Given the description of an element on the screen output the (x, y) to click on. 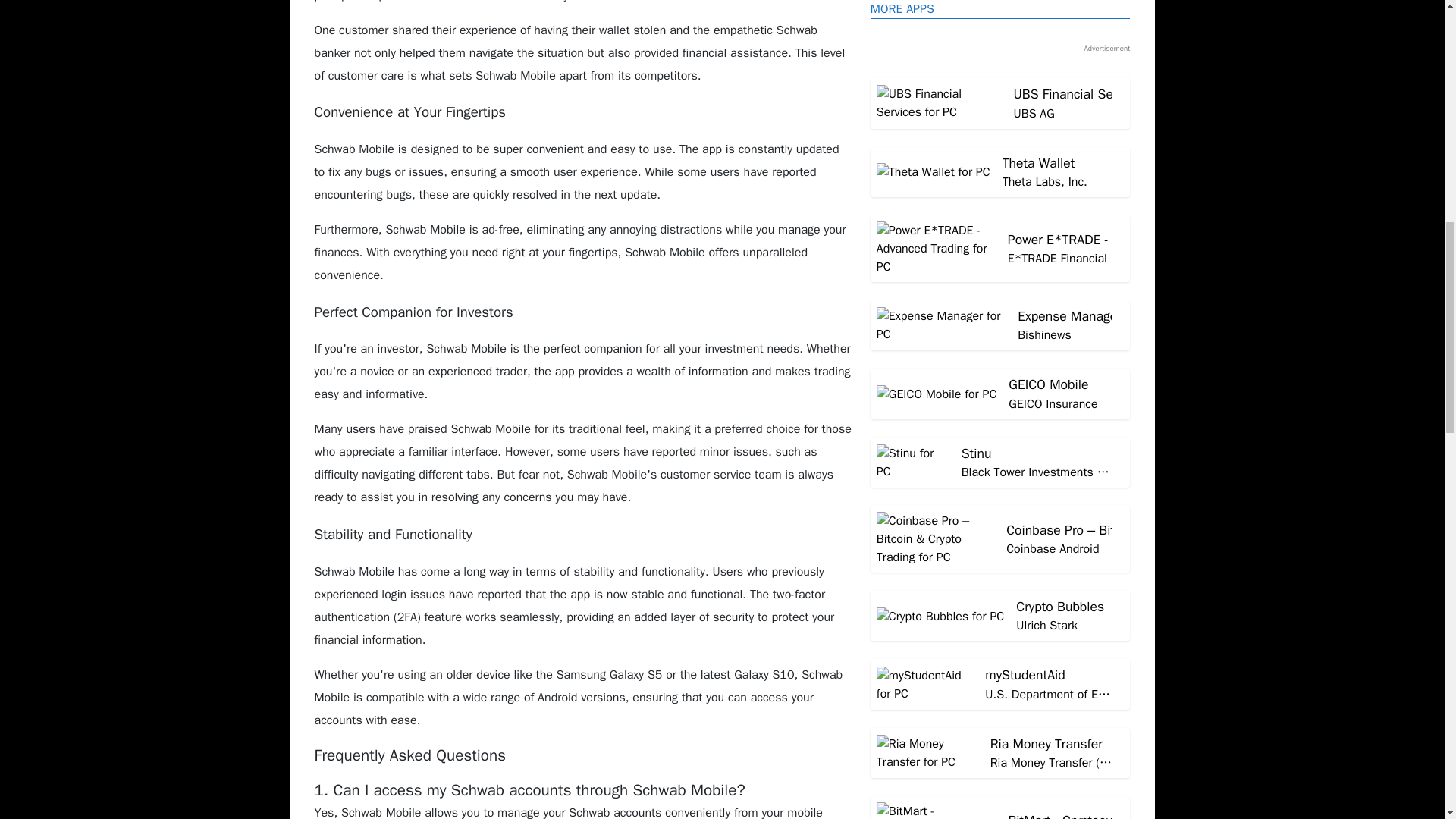
Monefy - Money Manager for PC (1000, 128)
BitMart - Cryptocurrency Exchange for PC (1000, 204)
Cash App for PC (1000, 128)
myStudentAid for PC (1000, 273)
MetaTrader 4 for PC (1000, 341)
